Given the description of an element on the screen output the (x, y) to click on. 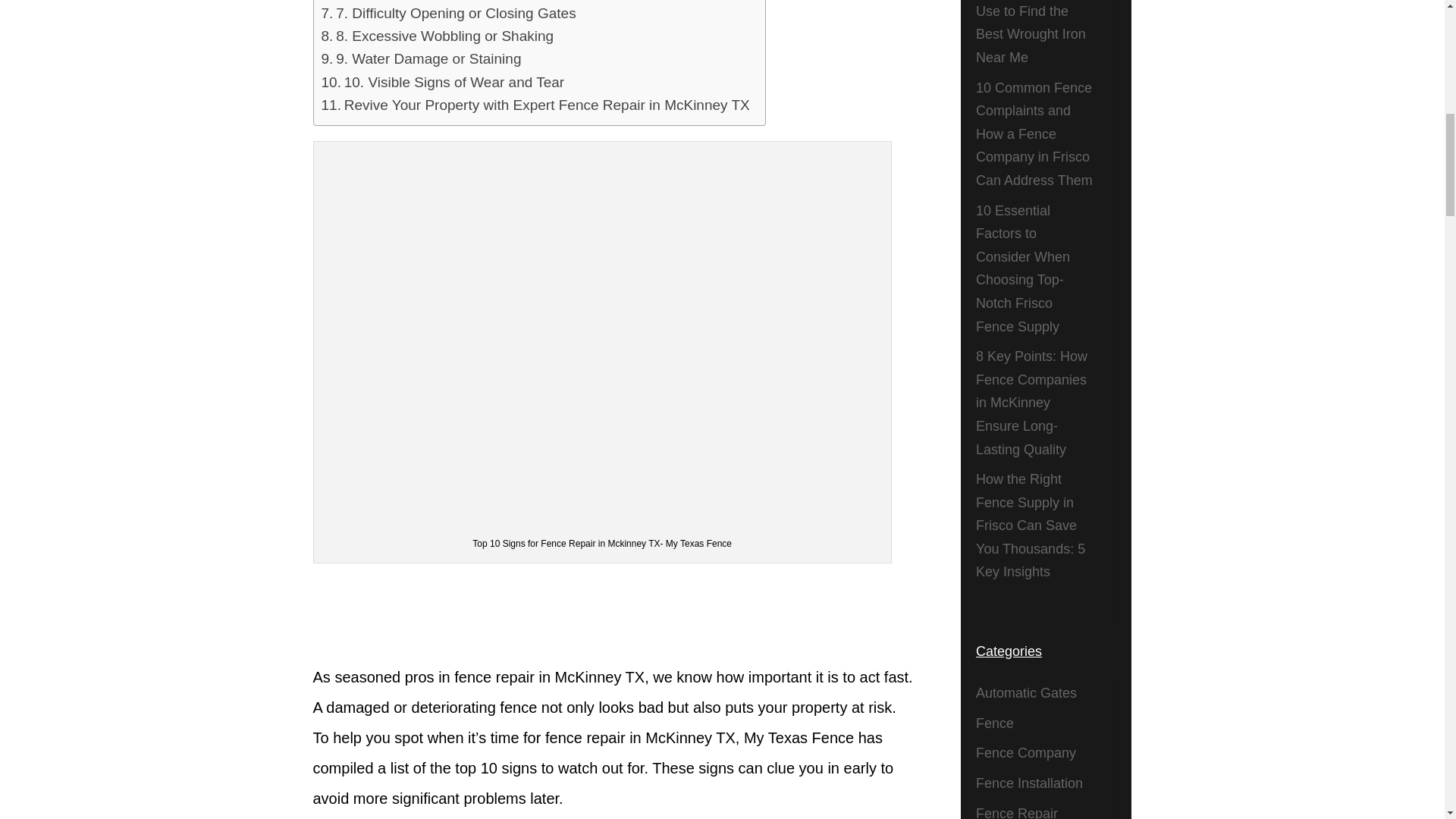
Revive Your Property with Expert Fence Repair in McKinney TX (535, 105)
9. Water Damage or Staining (421, 58)
7. Difficulty Opening or Closing Gates (448, 13)
10. Visible Signs of Wear and Tear (442, 82)
8. Excessive Wobbling or Shaking (437, 36)
